Given the description of an element on the screen output the (x, y) to click on. 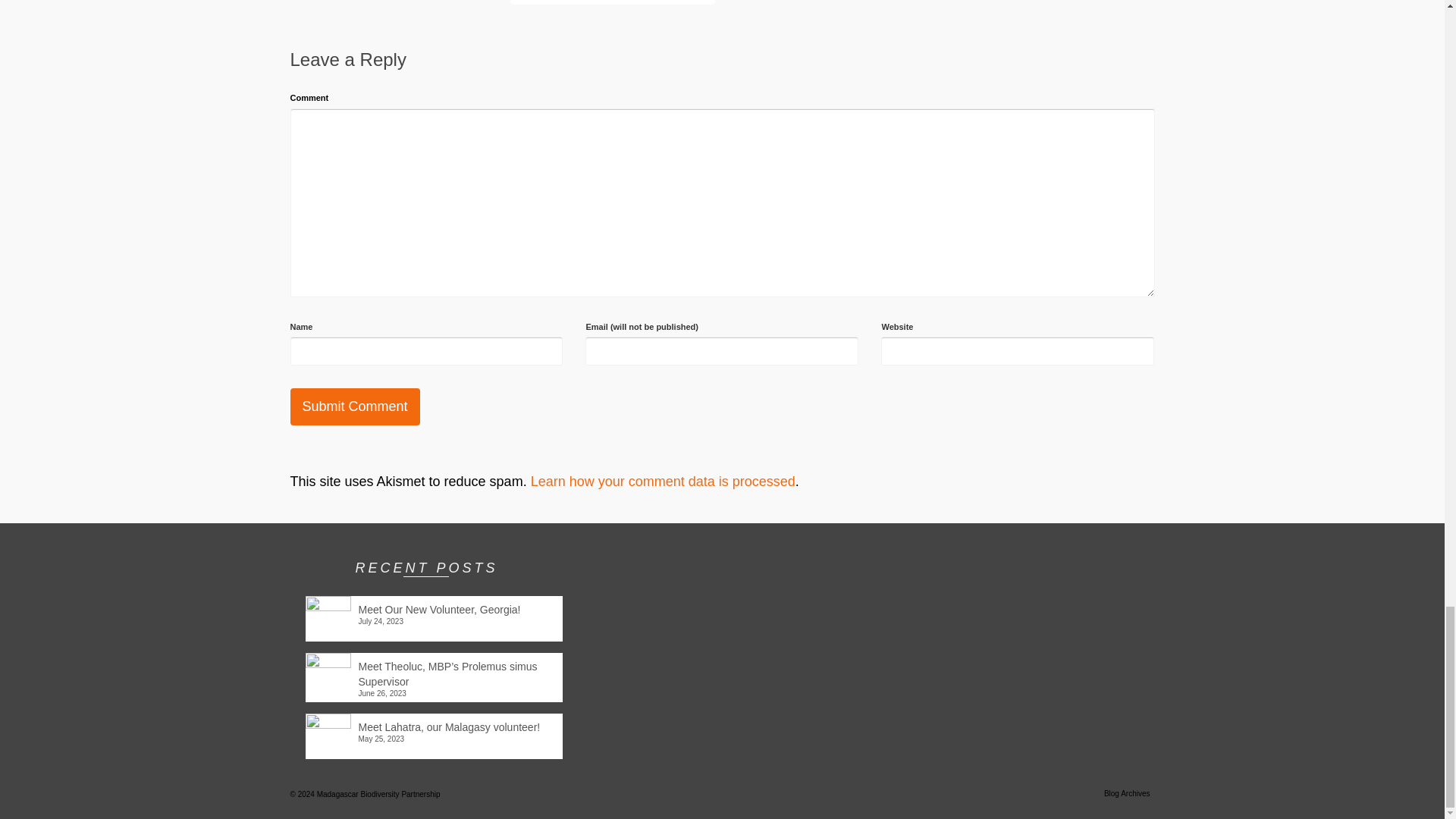
Meet Our New Volunteer, Georgia! (433, 606)
Submit Comment (354, 406)
Meet Lahatra, our Malagasy volunteer! (433, 723)
